Given the description of an element on the screen output the (x, y) to click on. 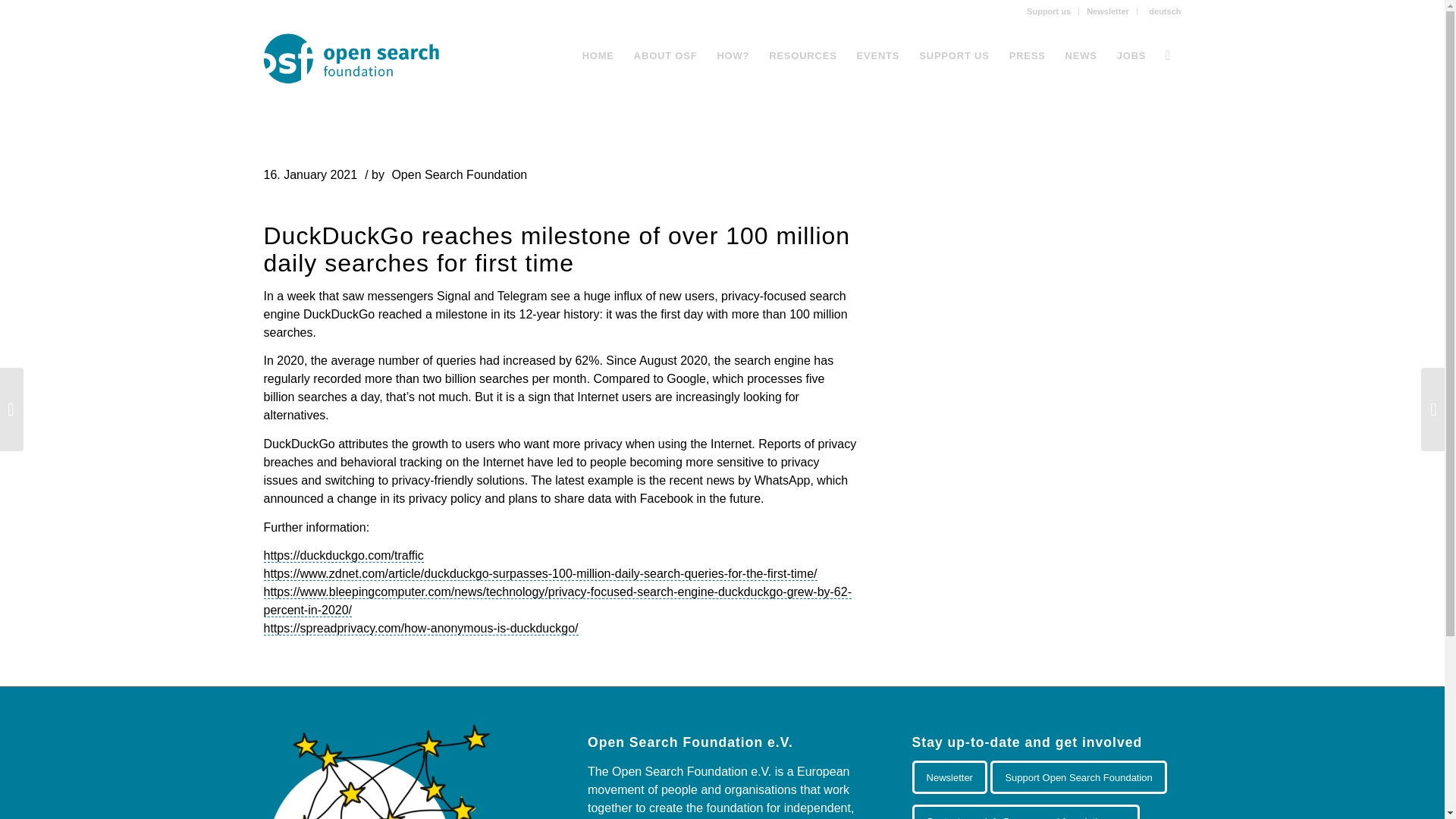
Support us (1048, 11)
deutsch (1162, 11)
ABOUT OSF (665, 56)
Newsletter (1107, 11)
Support Open Search Foundation (1078, 776)
EVENTS (878, 56)
Newsletter (949, 776)
Open Search Foundation (459, 174)
SUPPORT US (953, 56)
Open Search Foundation Logo (361, 56)
RESOURCES (801, 56)
